Given the description of an element on the screen output the (x, y) to click on. 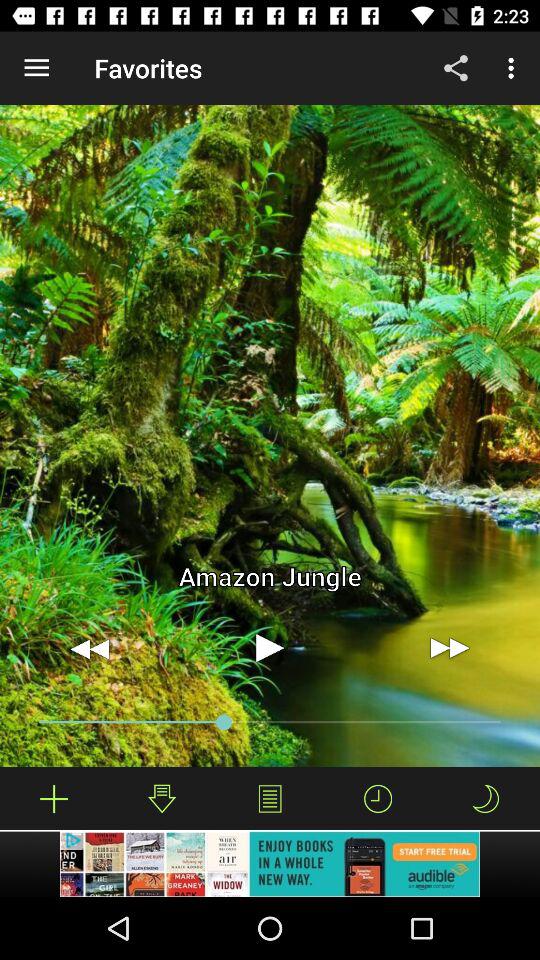
play (270, 648)
